Given the description of an element on the screen output the (x, y) to click on. 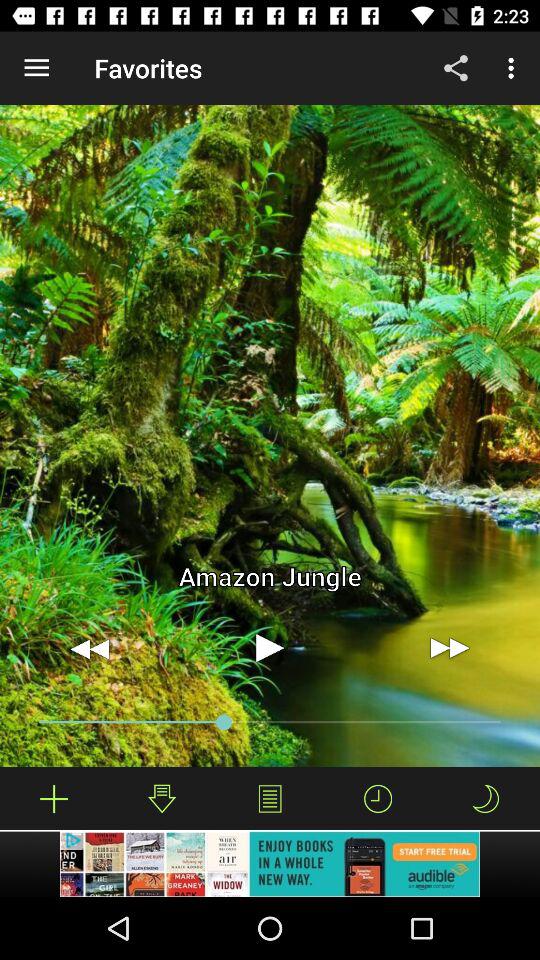
play (270, 648)
